Given the description of an element on the screen output the (x, y) to click on. 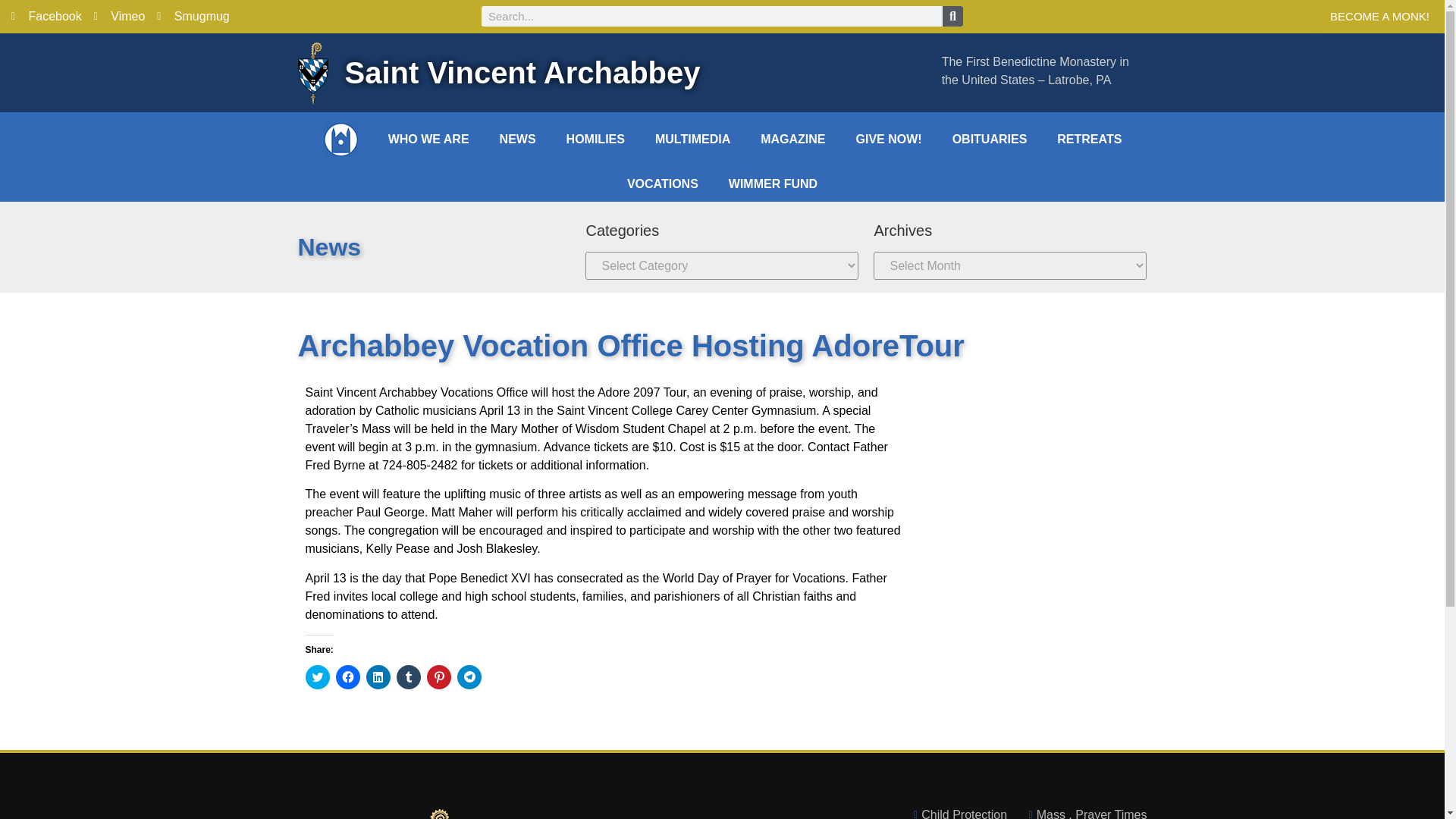
Child Protection (955, 812)
MULTIMEDIA (692, 139)
OBITUARIES (989, 139)
Click to share on Pinterest (437, 677)
Click to share on LinkedIn (377, 677)
Saint Vincent Archabbey (521, 72)
VOCATIONS (662, 184)
Click to share on Twitter (316, 677)
MAGAZINE (792, 139)
HOMILIES (595, 139)
